Given the description of an element on the screen output the (x, y) to click on. 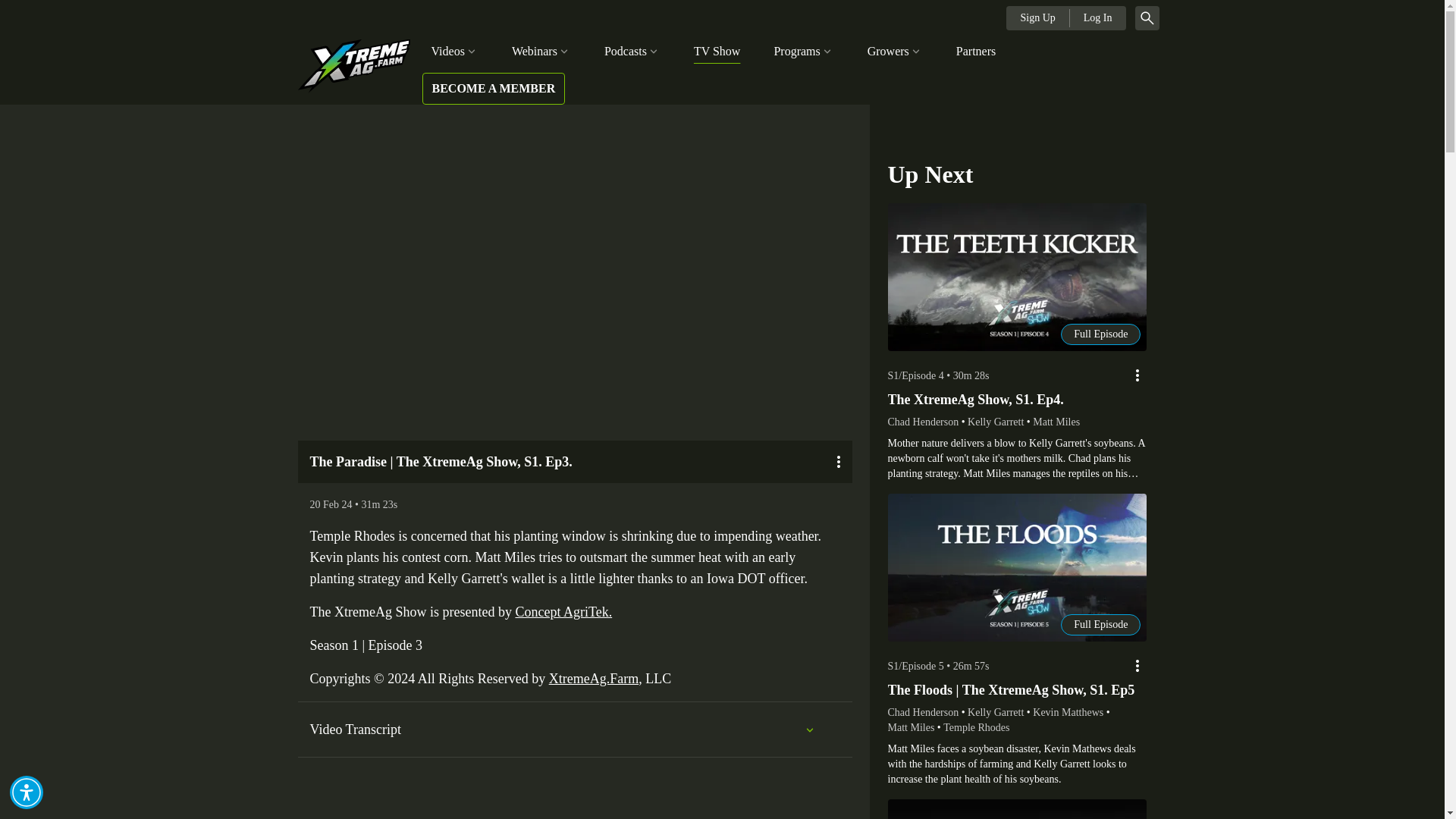
Sign Up (1037, 18)
Log In (1097, 18)
Accessibility Menu (26, 792)
Webinars (540, 51)
Videos (454, 51)
